Given the description of an element on the screen output the (x, y) to click on. 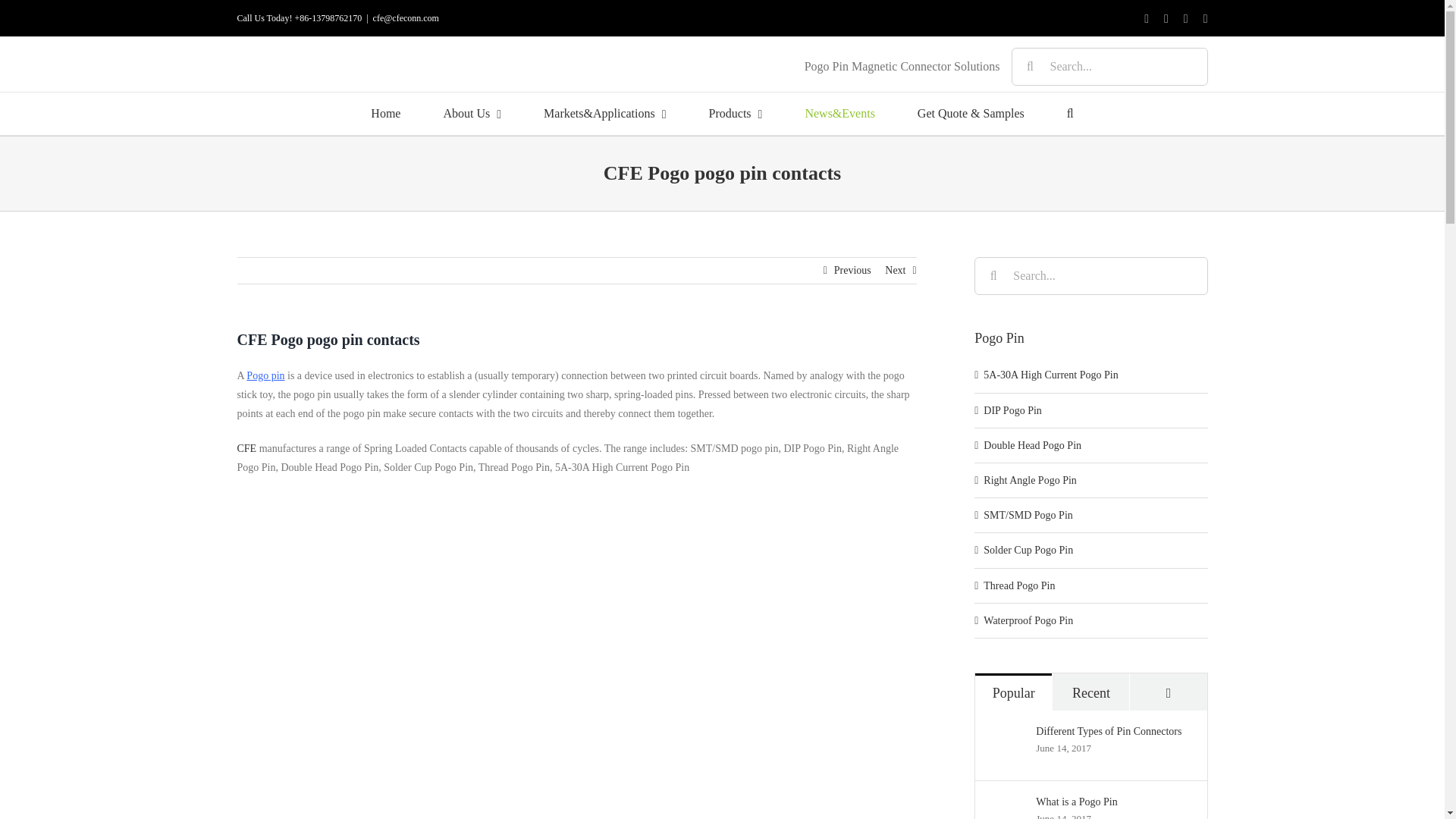
Products (735, 113)
About Us (471, 113)
